Given the description of an element on the screen output the (x, y) to click on. 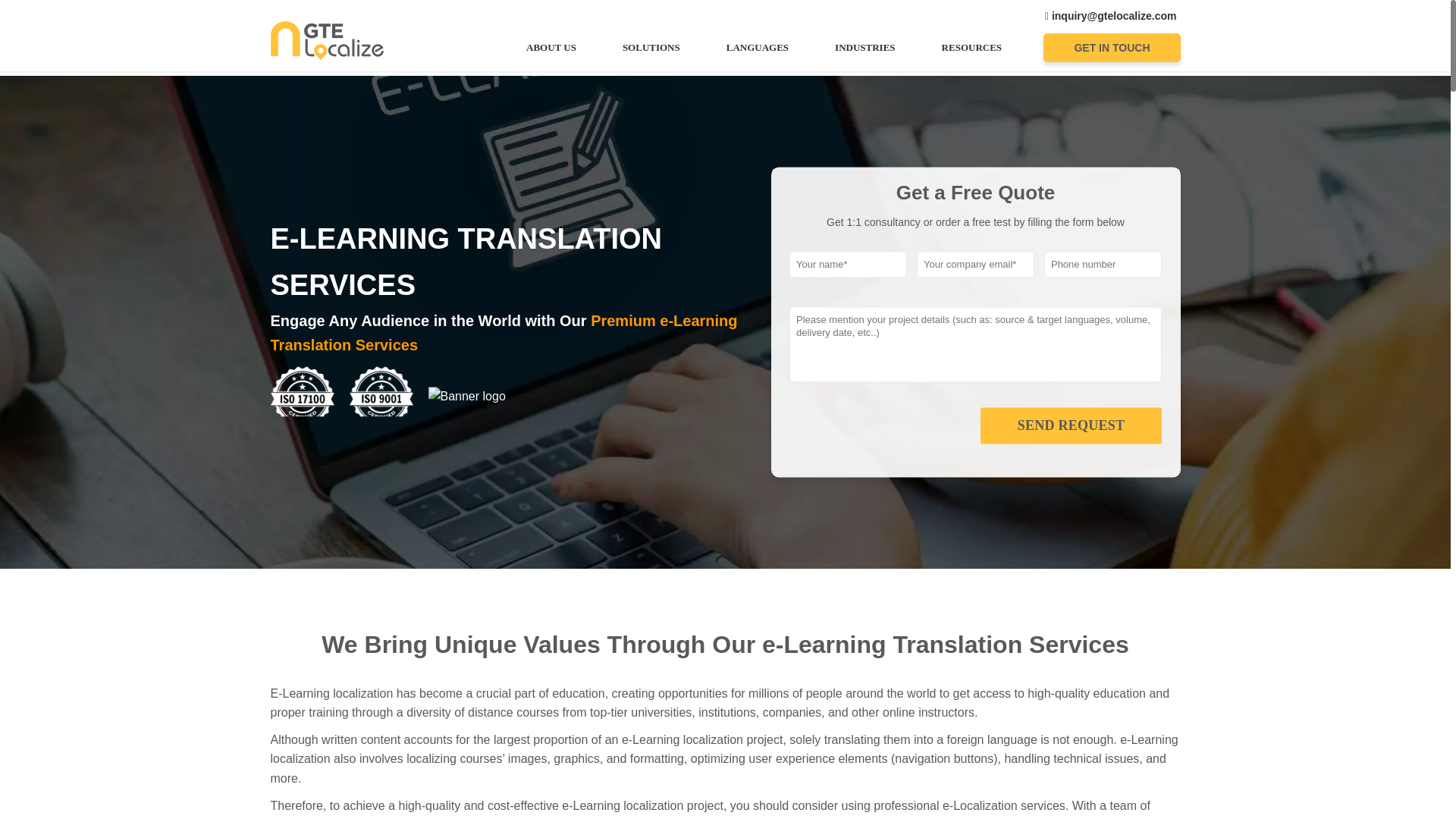
GTE Localize (325, 39)
LANGUAGES (756, 47)
SOLUTIONS (651, 47)
SEND REQUEST (1070, 425)
ABOUT US (550, 47)
